Given the description of an element on the screen output the (x, y) to click on. 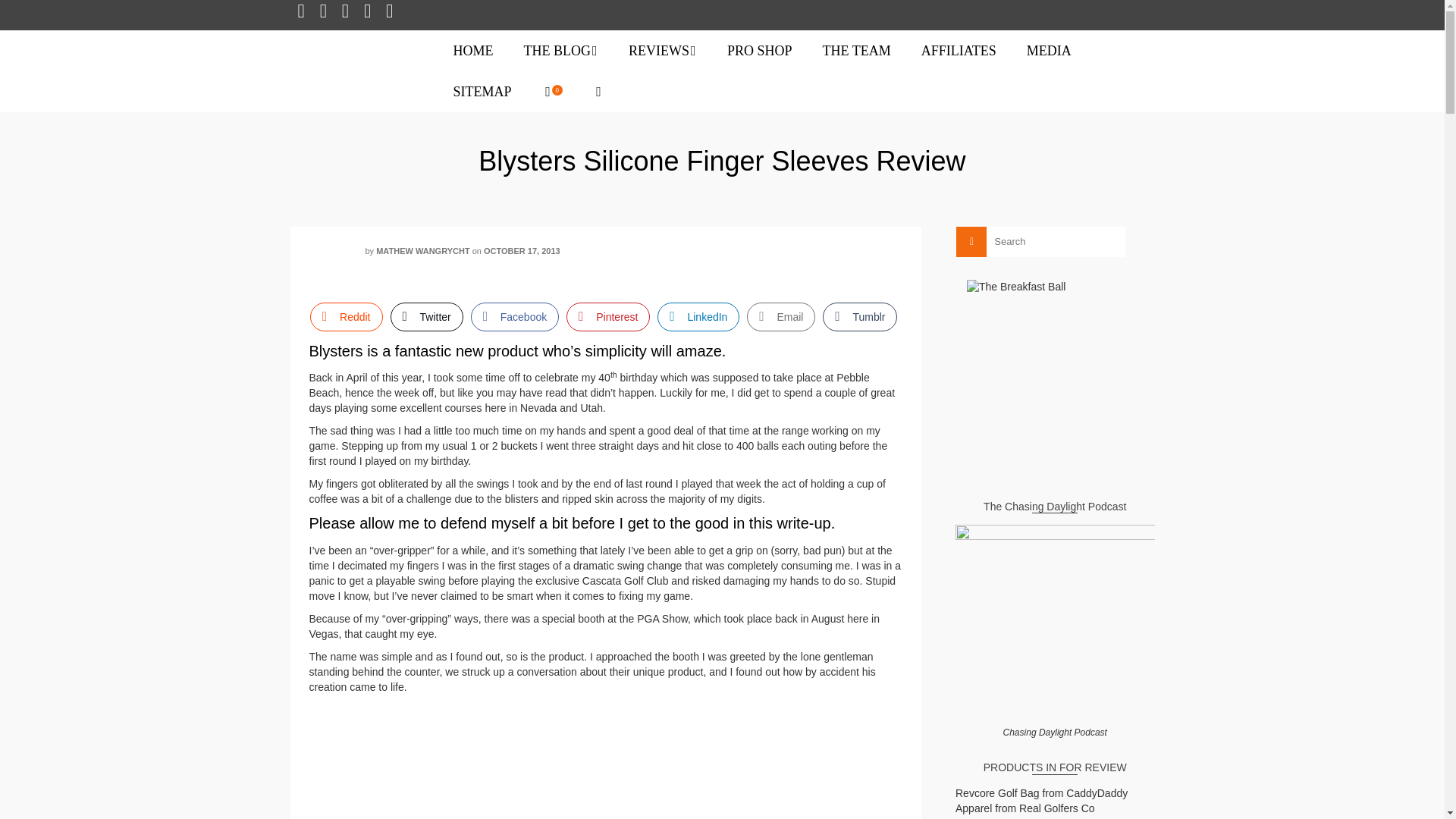
0 (552, 91)
THE TEAM (856, 50)
THE BLOG (560, 50)
SITEMAP (482, 91)
REVIEWS (661, 50)
MEDIA (1048, 50)
AFFILIATES (958, 50)
HOME (473, 50)
PRO SHOP (759, 50)
